Given the description of an element on the screen output the (x, y) to click on. 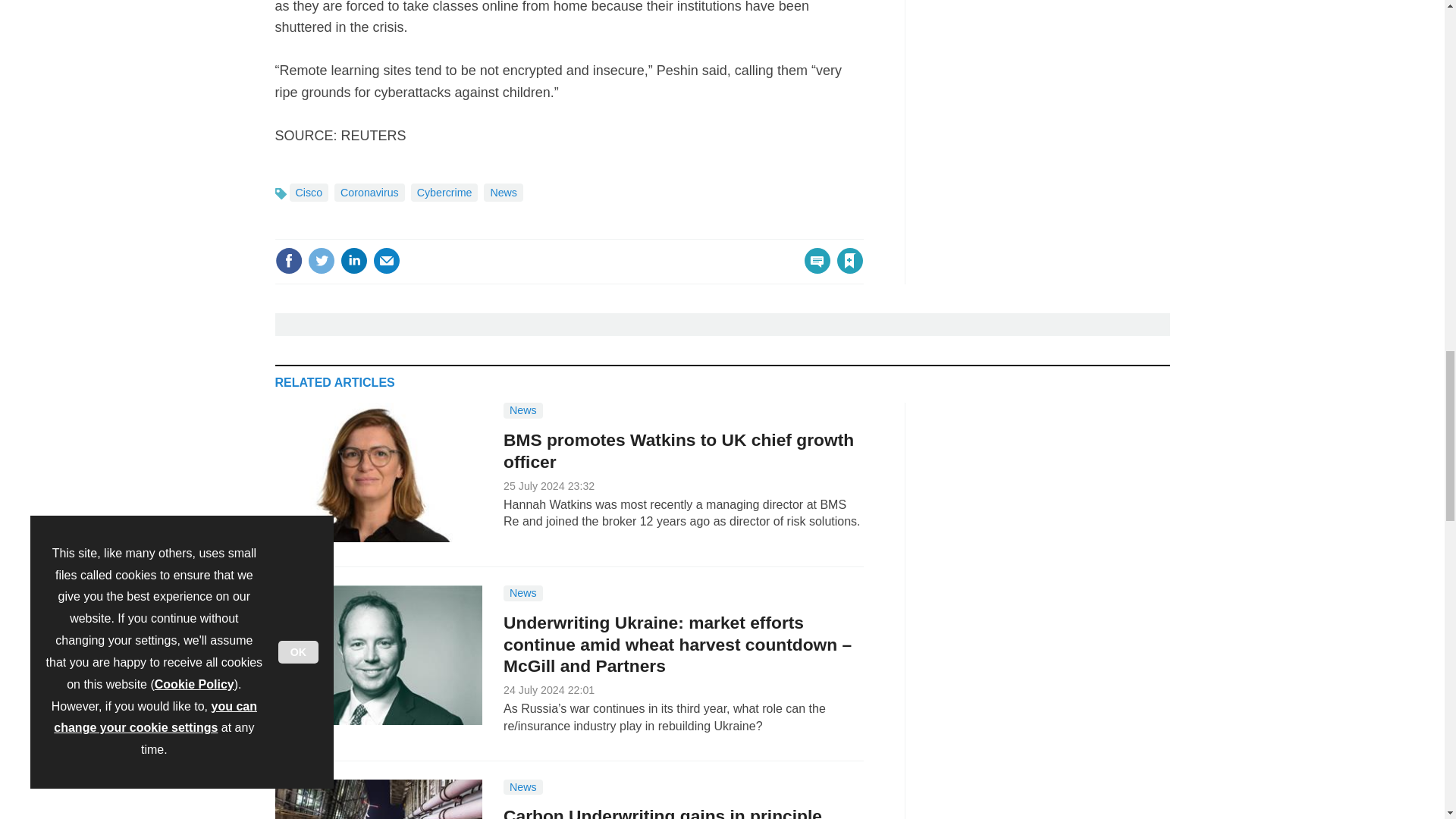
No comments (812, 269)
Share this on Linked in (352, 260)
Share this on Facebook (288, 260)
Email this article (386, 260)
Share this on Twitter (320, 260)
